Given the description of an element on the screen output the (x, y) to click on. 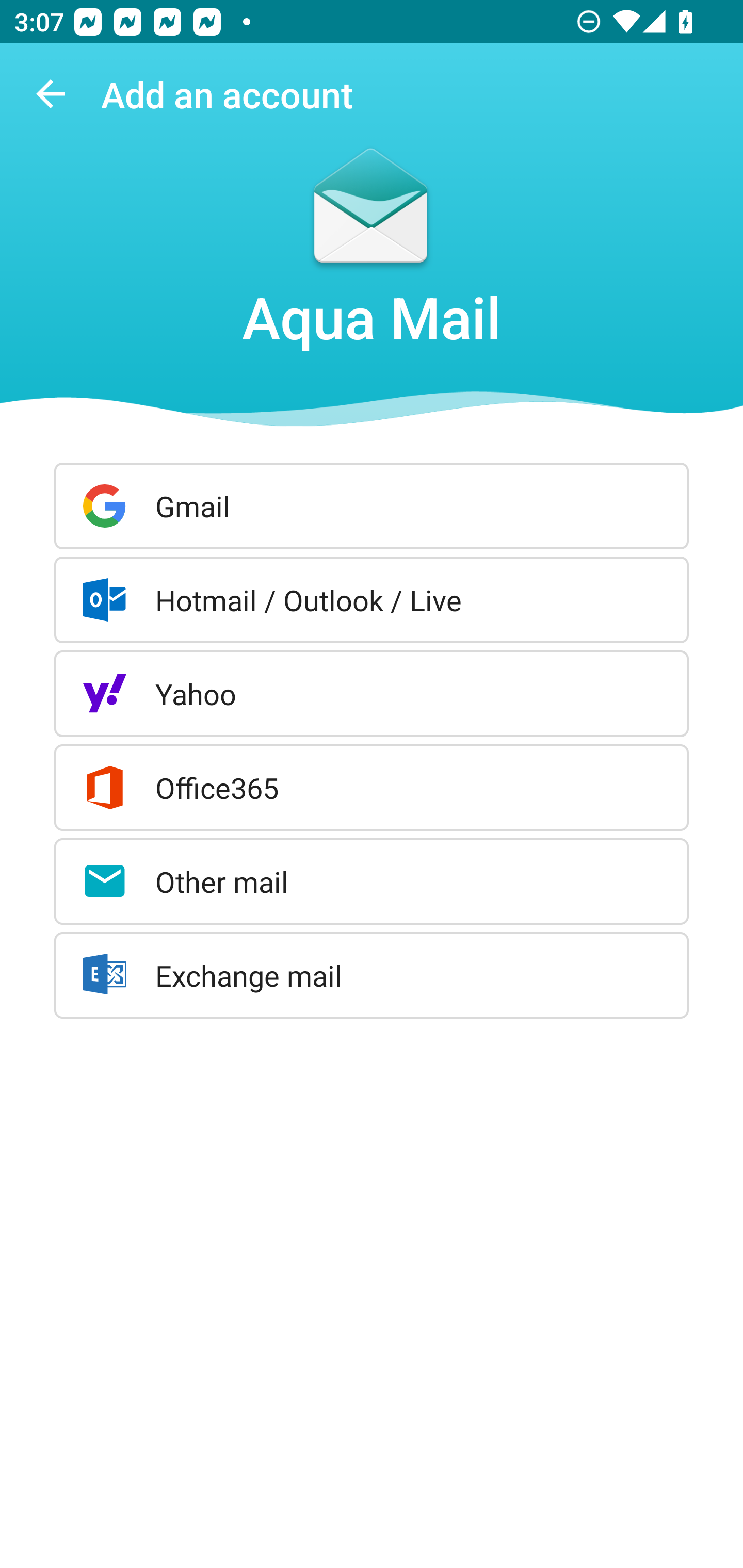
Gmail (371, 505)
Hotmail / Outlook / Live (371, 599)
Yahoo (371, 693)
Office365 (371, 787)
Other mail (371, 881)
Exchange mail (371, 975)
